Given the description of an element on the screen output the (x, y) to click on. 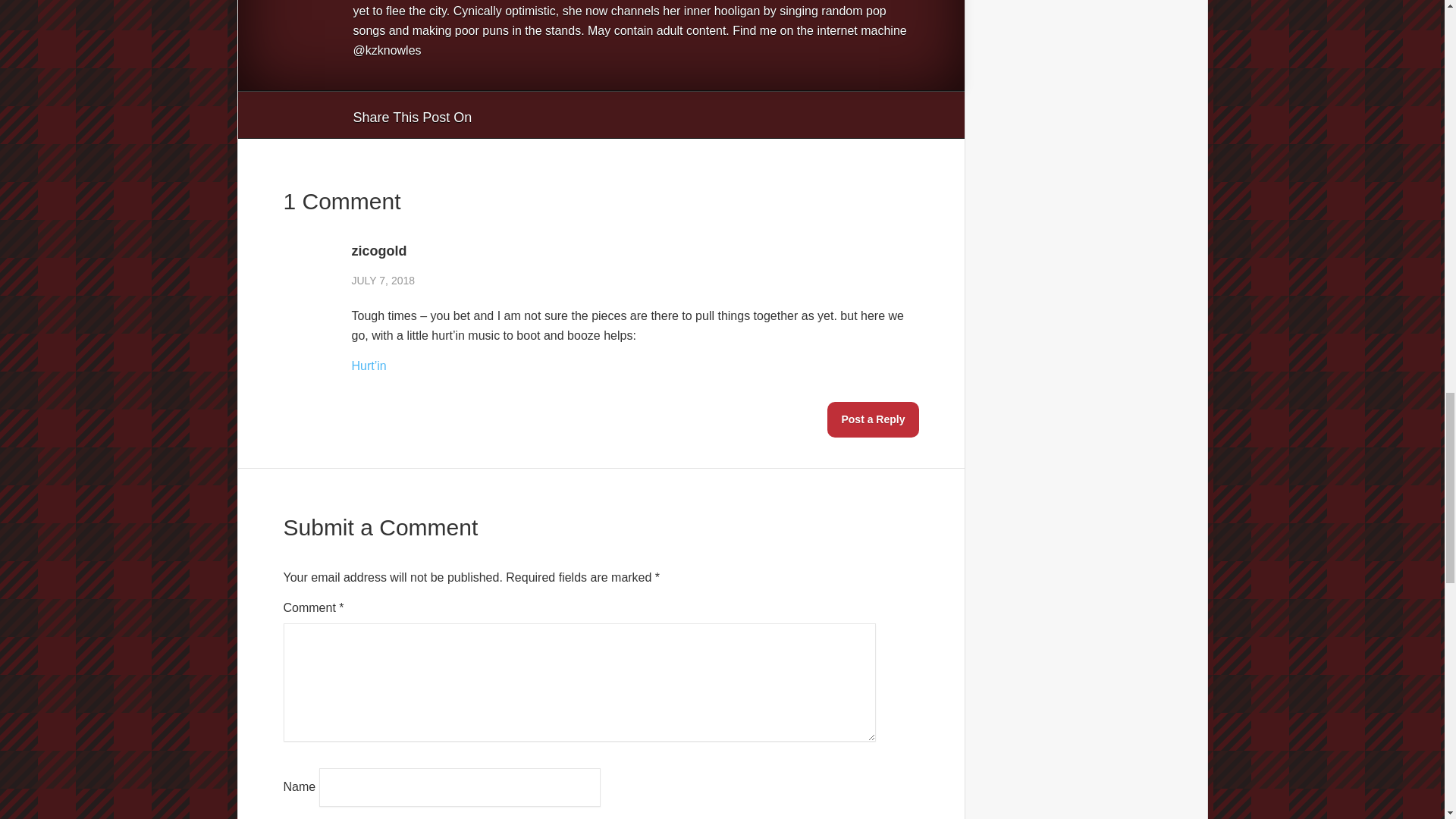
Facebook (526, 115)
Post a Reply (872, 419)
Google (498, 115)
Twitter (555, 115)
